Given the description of an element on the screen output the (x, y) to click on. 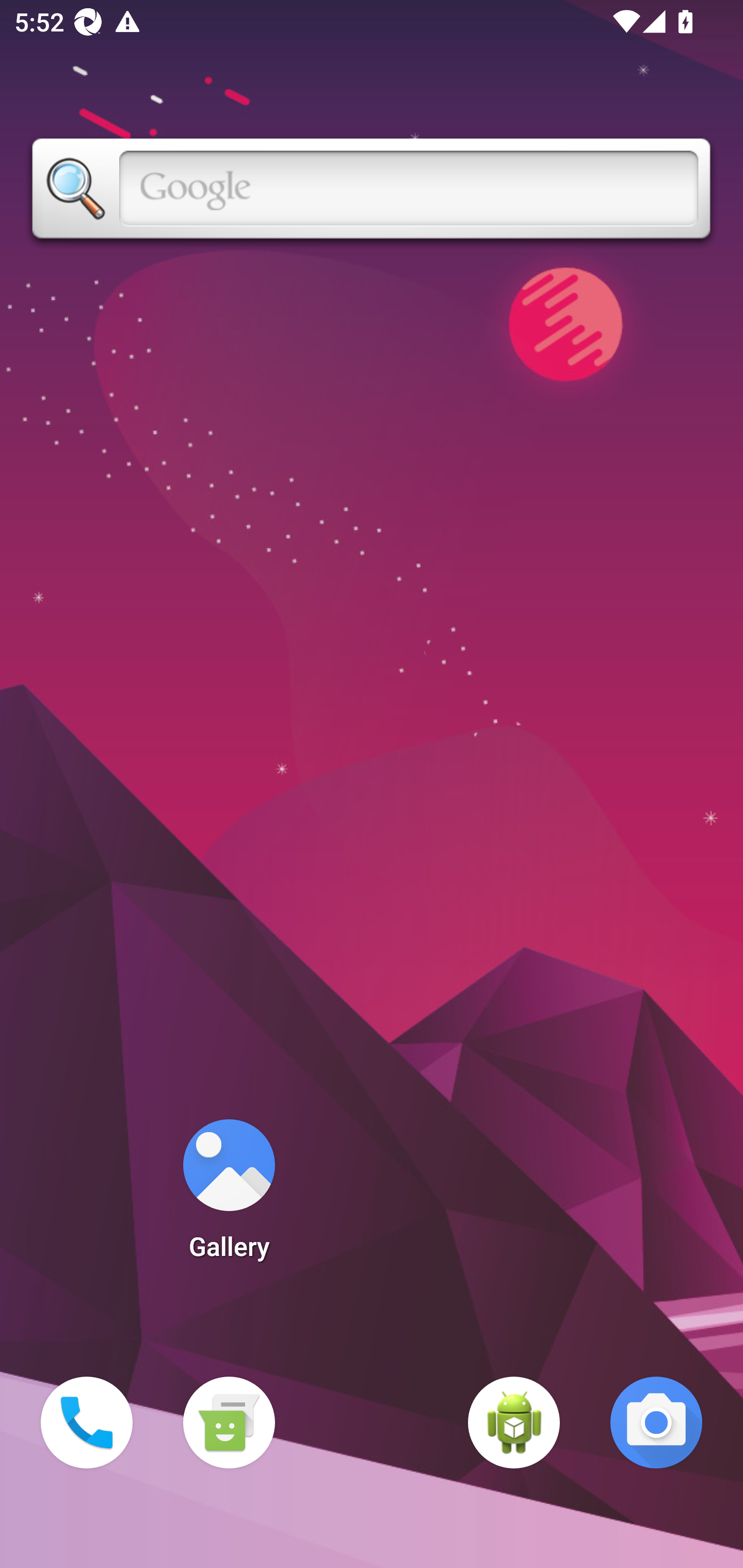
Gallery (228, 1195)
Phone (86, 1422)
Messaging (228, 1422)
WebView Browser Tester (513, 1422)
Camera (656, 1422)
